Given the description of an element on the screen output the (x, y) to click on. 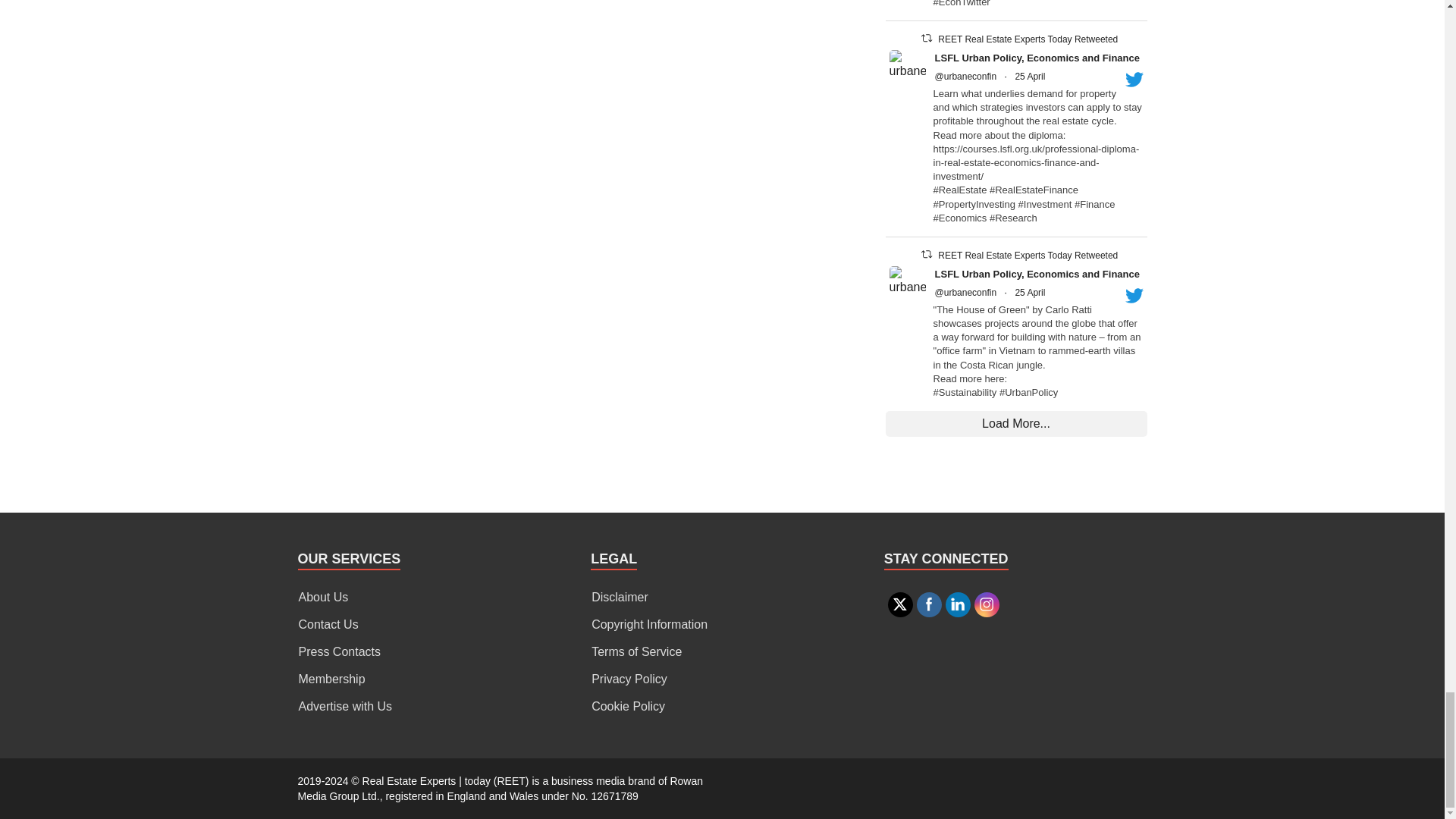
Instagram (985, 603)
Twitter (900, 604)
LinkedIn (956, 603)
Facebook (928, 603)
